Given the description of an element on the screen output the (x, y) to click on. 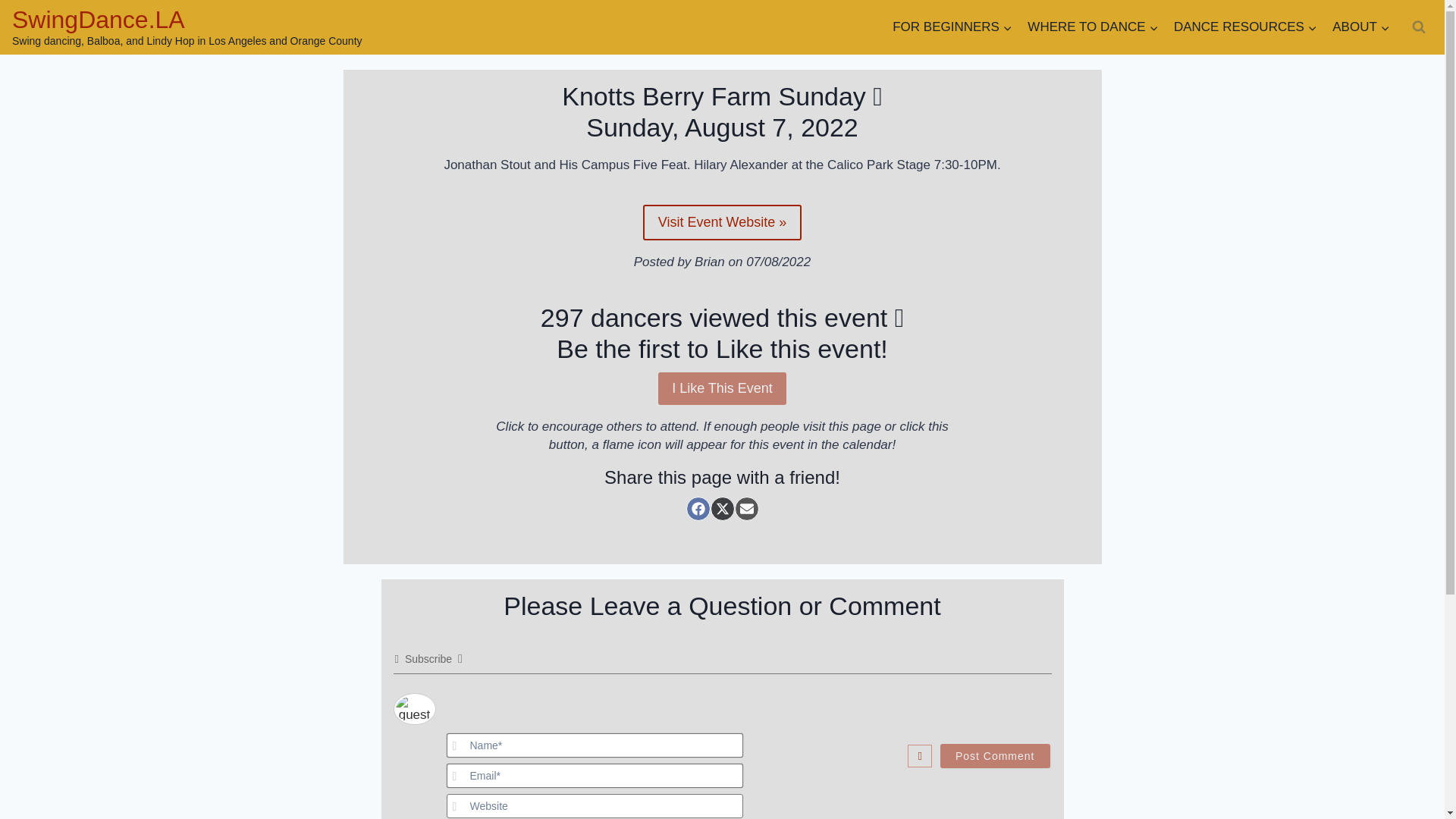
FOR BEGINNERS (952, 27)
WHERE TO DANCE (1093, 27)
I Like This Event (722, 388)
Post Comment (994, 755)
